Given the description of an element on the screen output the (x, y) to click on. 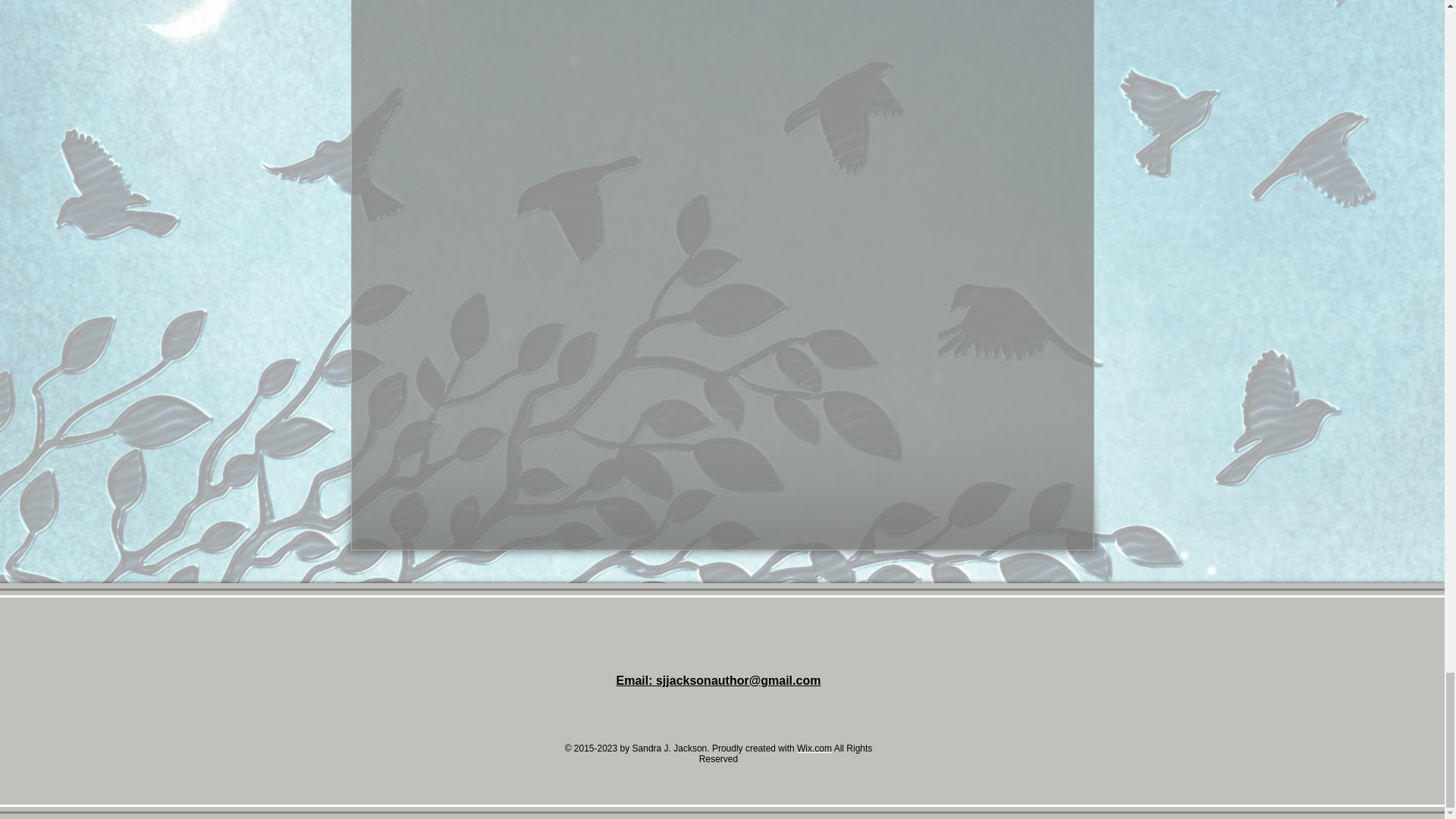
Wix.com (813, 747)
RSS Feed (968, 538)
 All Rights Reserved (785, 753)
